Given the description of an element on the screen output the (x, y) to click on. 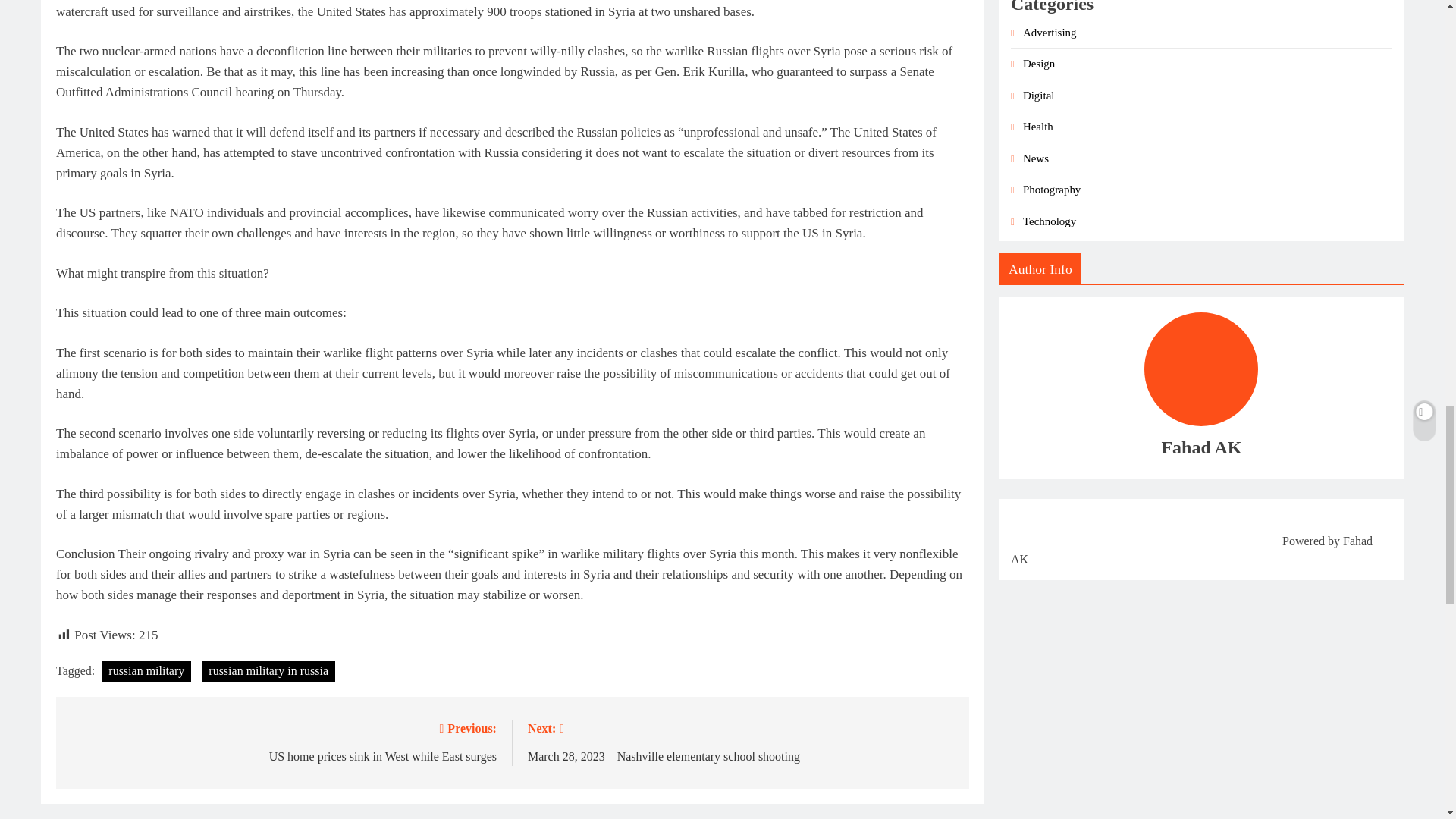
russian military (145, 670)
russian military in russia (268, 670)
